Given the description of an element on the screen output the (x, y) to click on. 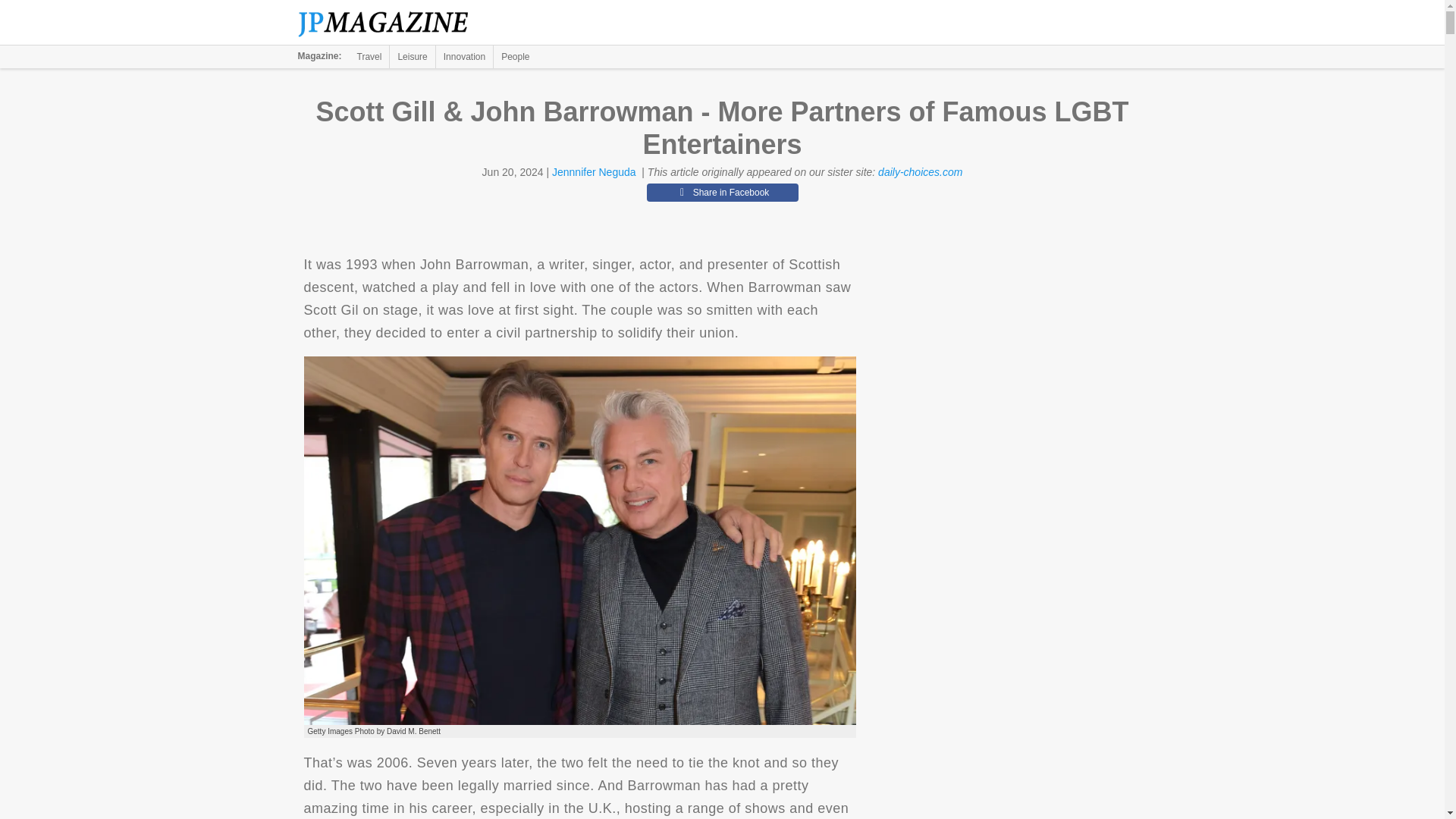
Innovation (464, 56)
The Jerusalem Post Magazine (391, 22)
daily-choices.com (919, 172)
Share in Facebook (721, 192)
Leisure (411, 56)
Jennnifer Neguda (593, 172)
People (515, 56)
Travel (369, 56)
